Given the description of an element on the screen output the (x, y) to click on. 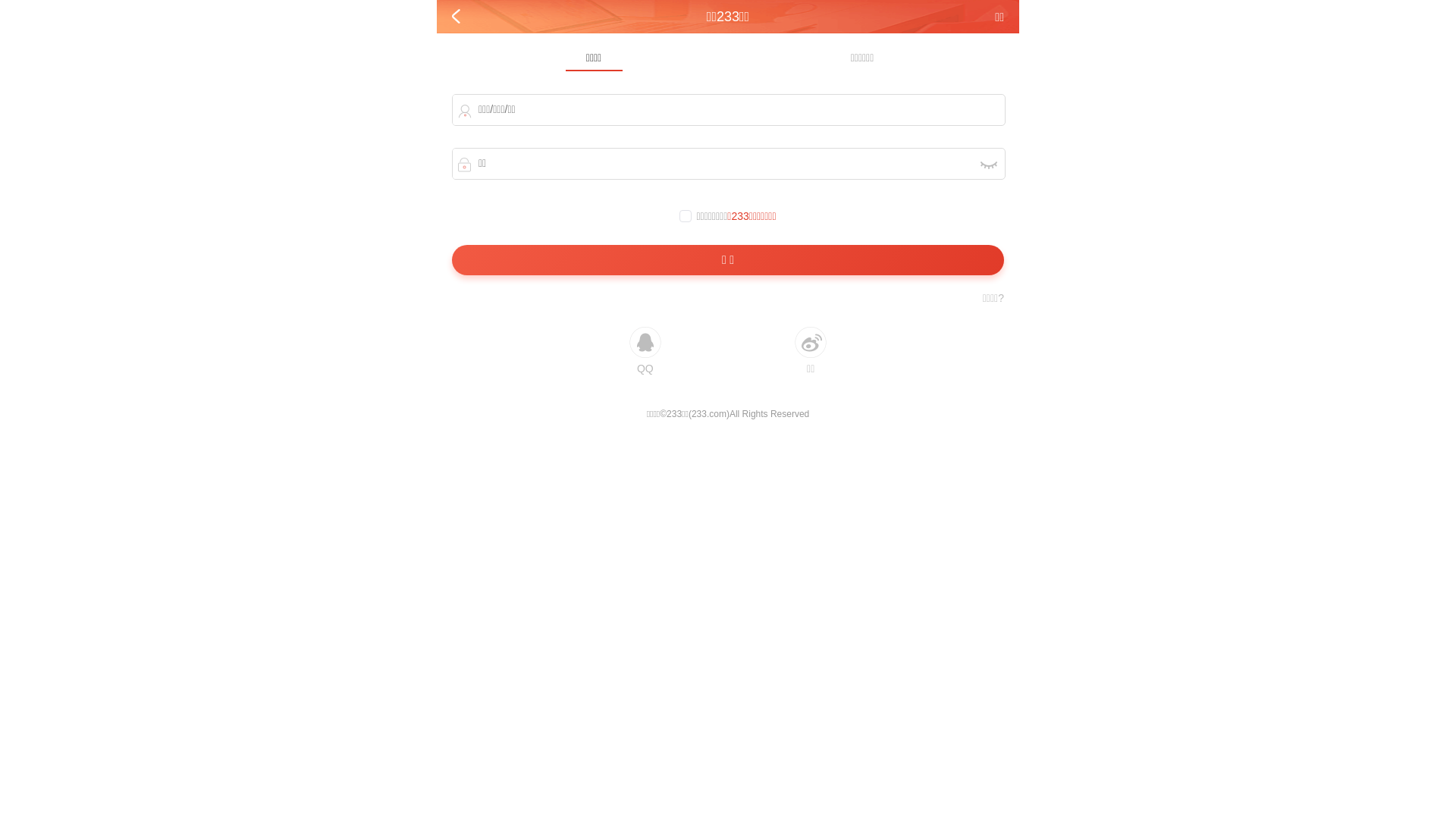
QQ Element type: text (645, 350)
